Given the description of an element on the screen output the (x, y) to click on. 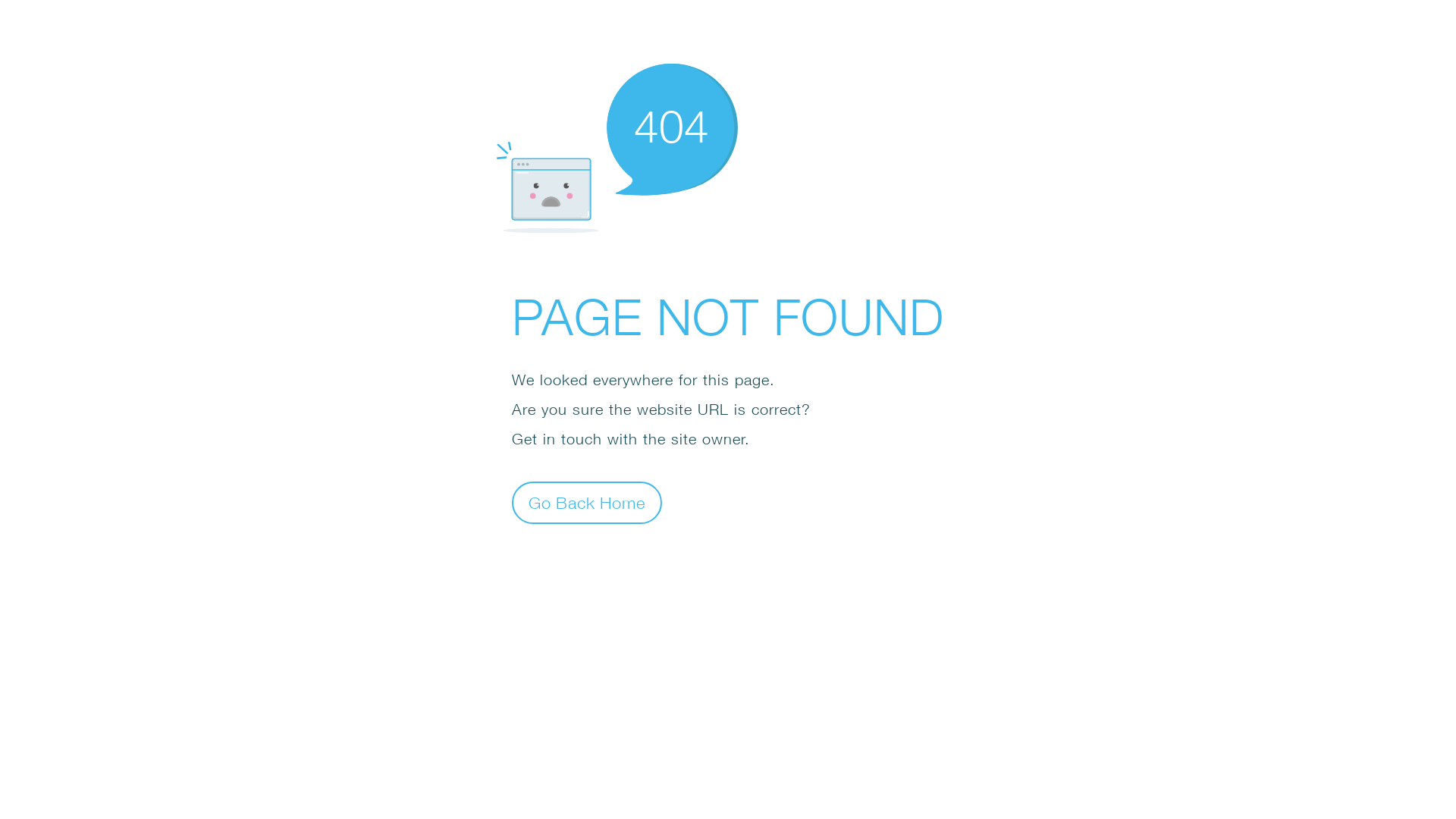
Go Back Home Element type: text (586, 502)
